Given the description of an element on the screen output the (x, y) to click on. 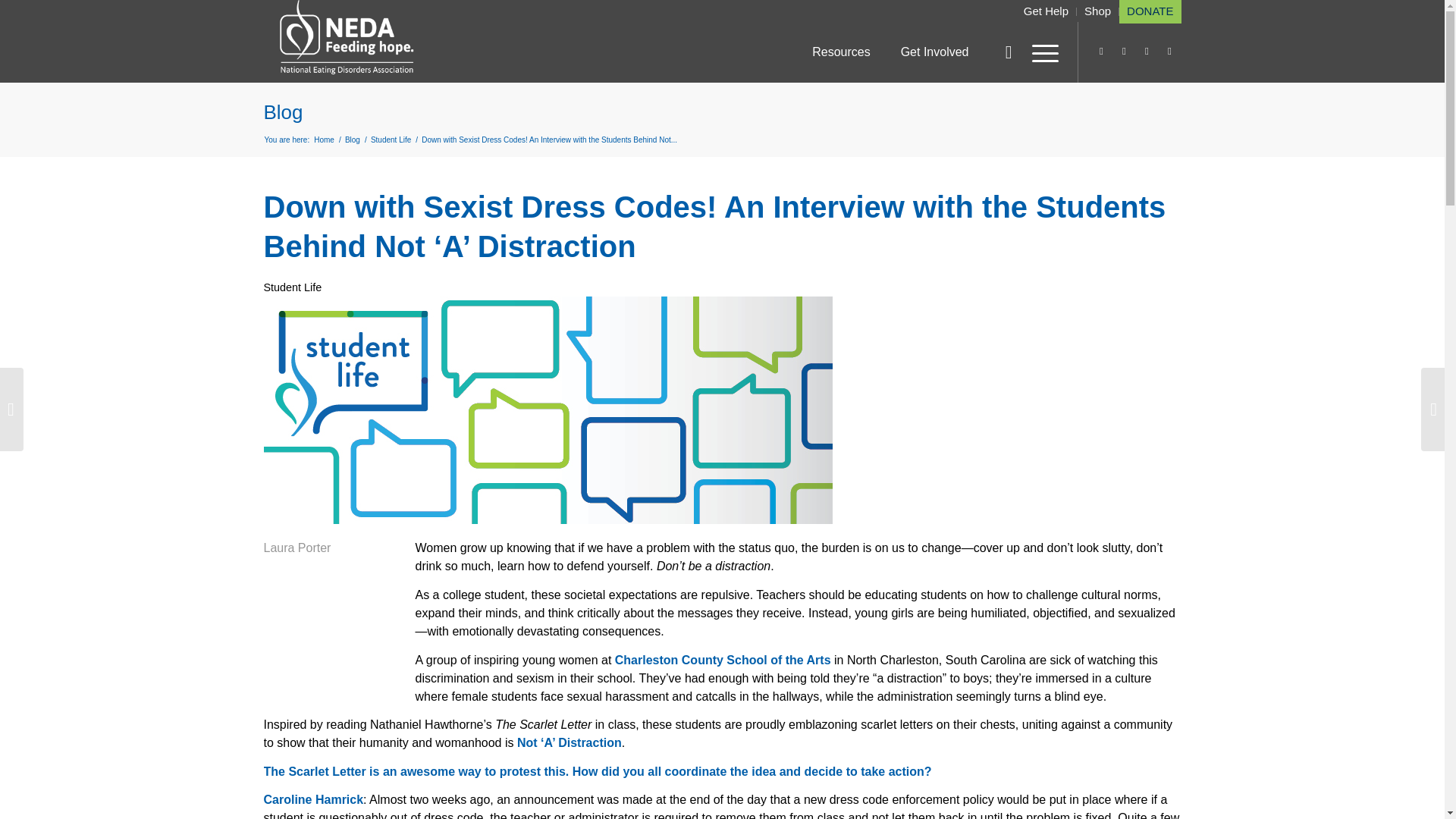
Please click for getting help resources (1045, 11)
Get Help (1045, 11)
NEDA logo Feeding Hope click to go to homepage. (346, 37)
Blog (352, 139)
LinkedIn (1124, 51)
Instagram (1101, 51)
DONATE (1149, 11)
Facebook (1169, 51)
Permanent Link: Blog (282, 111)
Blog (282, 111)
Shop (1097, 11)
Resources (840, 51)
Student Life (292, 287)
Home (323, 139)
Student Life (390, 139)
